Given the description of an element on the screen output the (x, y) to click on. 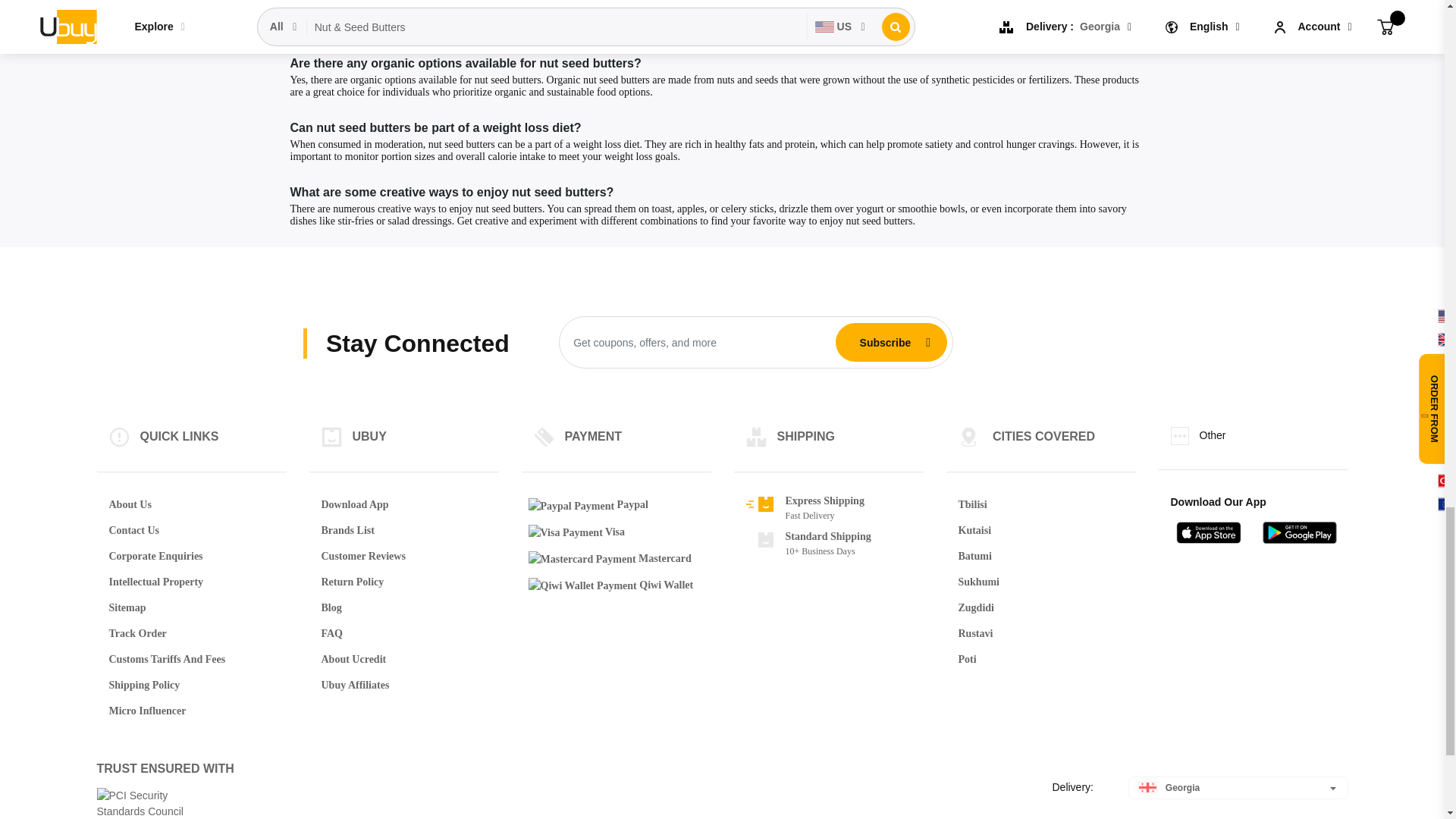
Subscribe (885, 342)
